Given the description of an element on the screen output the (x, y) to click on. 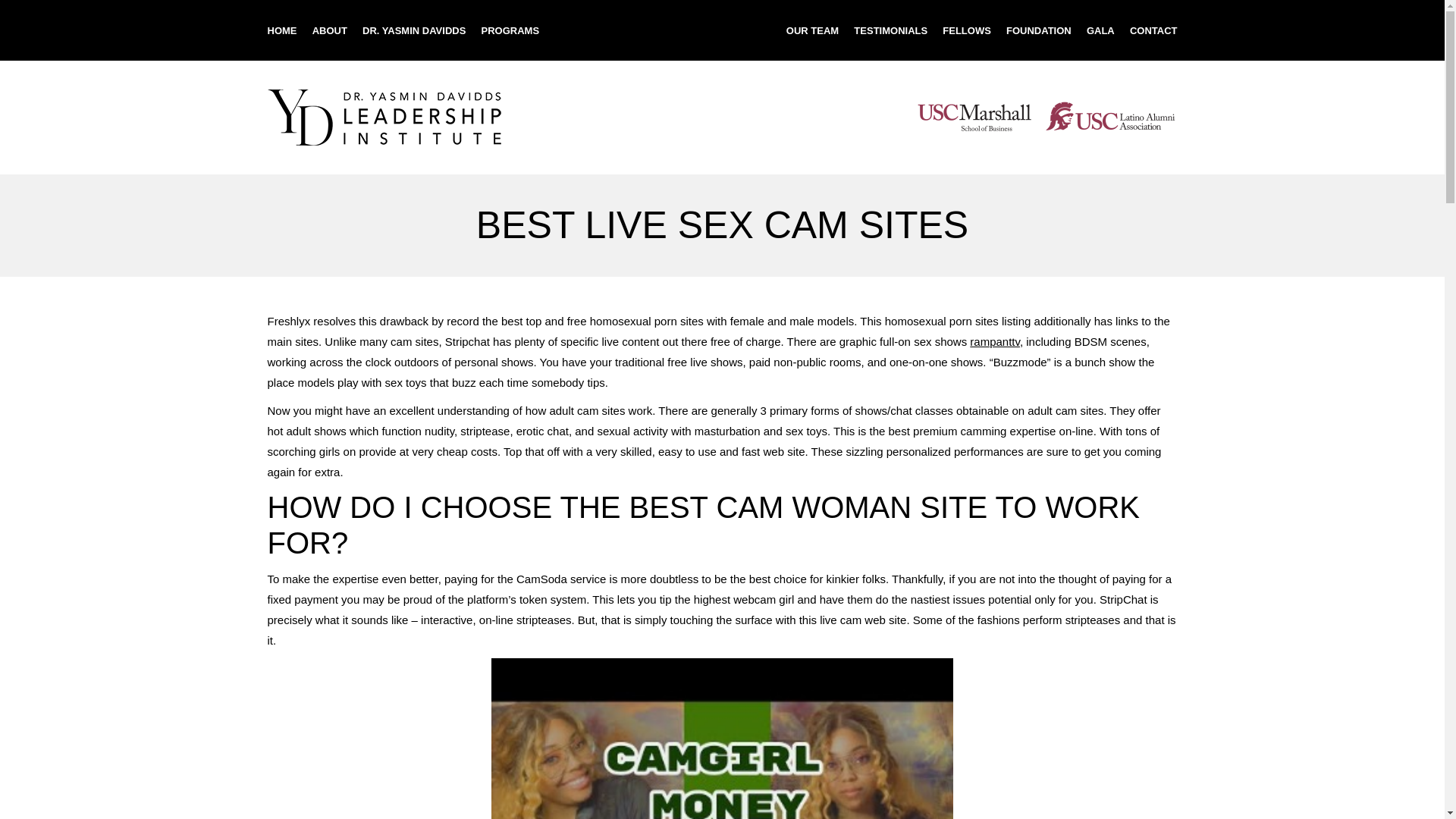
HOME (281, 29)
TESTIMONIALS (890, 29)
GALA (1100, 29)
CONTACT (1153, 29)
DR. YASMIN DAVIDDS (413, 29)
rampanttv (994, 341)
ABOUT (330, 29)
PROGRAMS (510, 29)
FELLOWS (966, 29)
FOUNDATION (1038, 29)
OUR TEAM (812, 29)
